Given the description of an element on the screen output the (x, y) to click on. 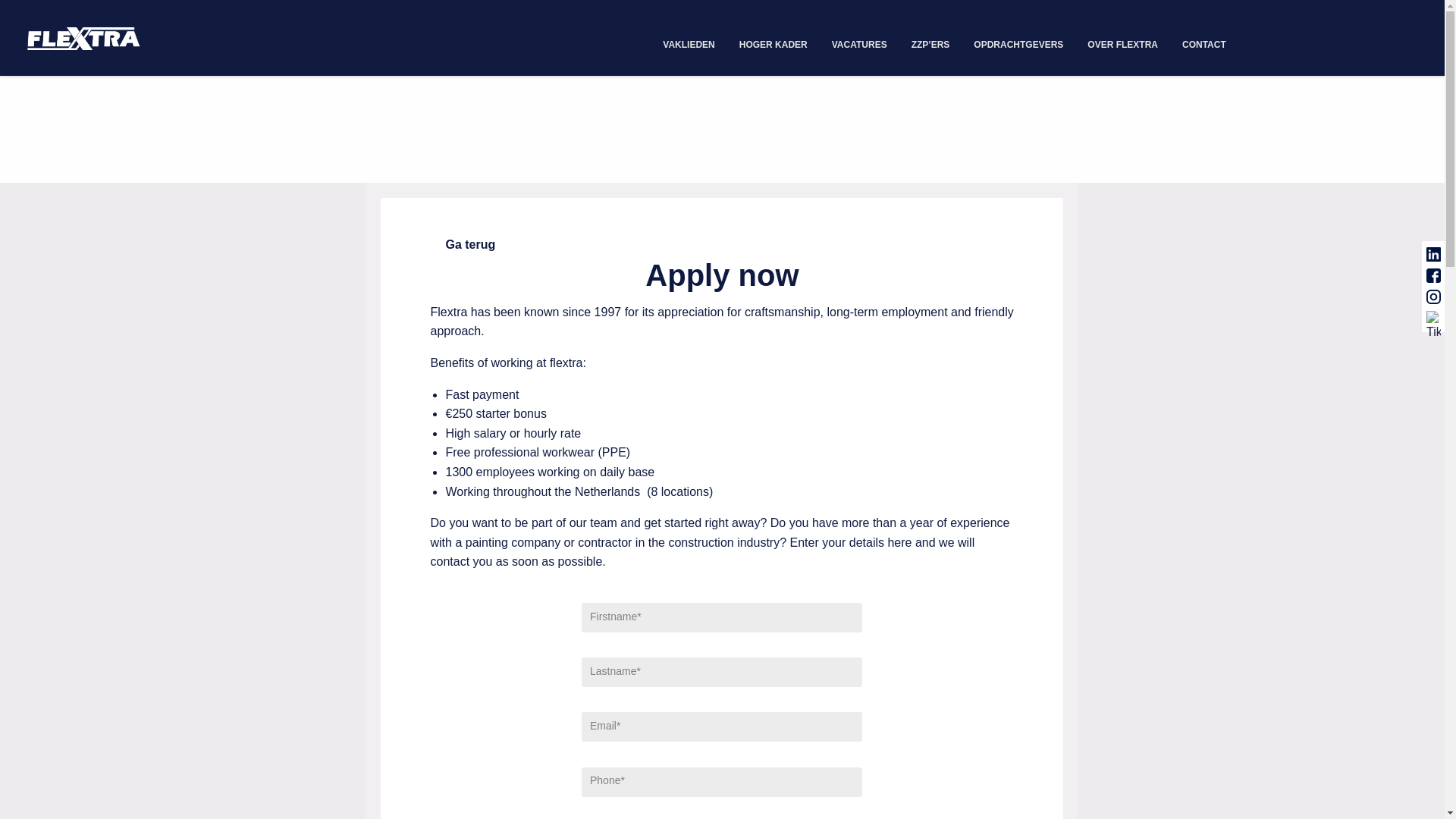
Instagram (1433, 296)
HOGER KADER (772, 48)
Facebook (1433, 275)
VACATURES (859, 48)
LinkedIn (1433, 254)
TikTok (1433, 318)
VAKLIEDEN (688, 48)
